Given the description of an element on the screen output the (x, y) to click on. 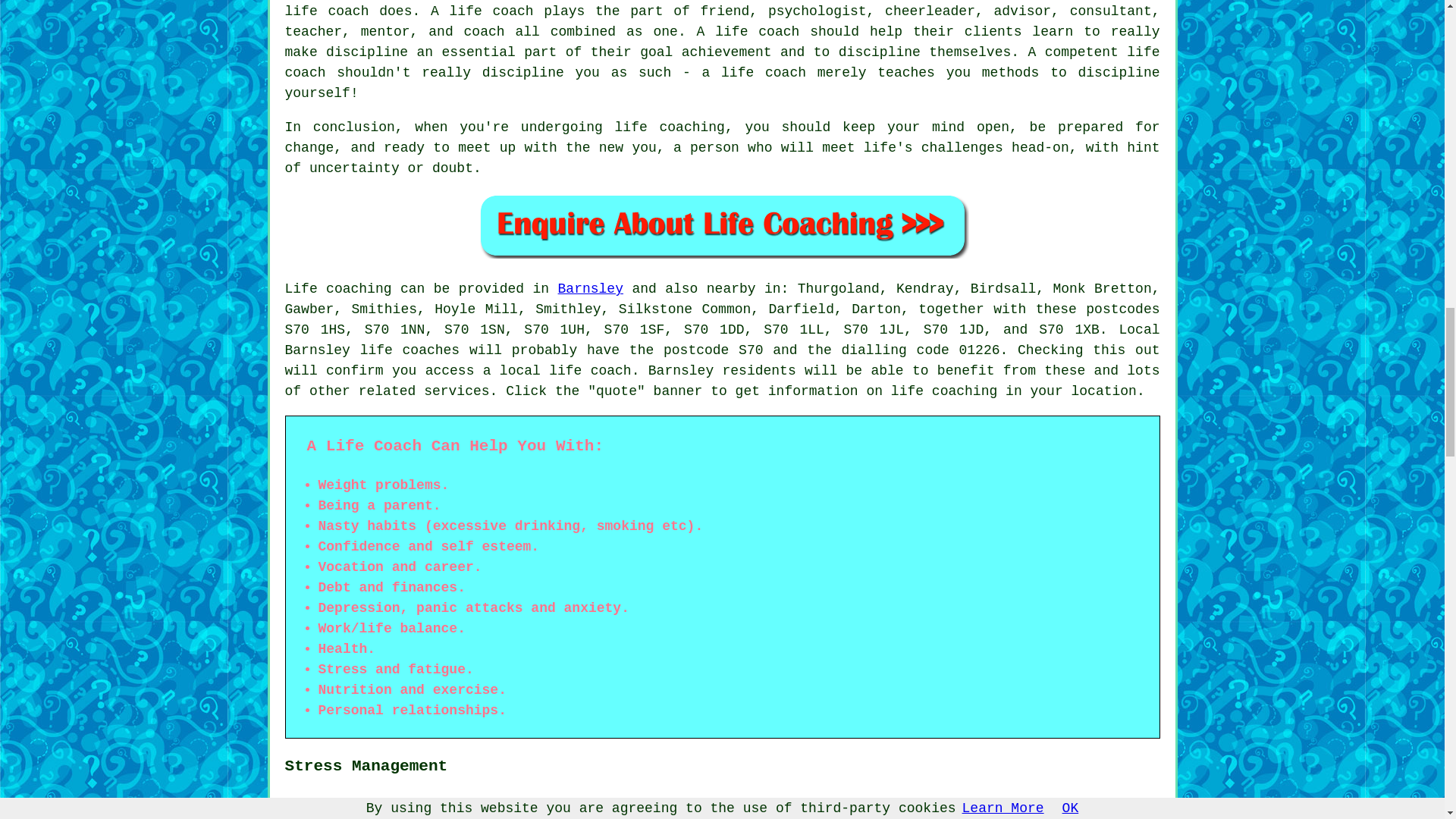
life coach (589, 370)
life coaching (944, 391)
Life coaching (338, 288)
Book a Life Coach in Barnsley UK (722, 225)
